Given the description of an element on the screen output the (x, y) to click on. 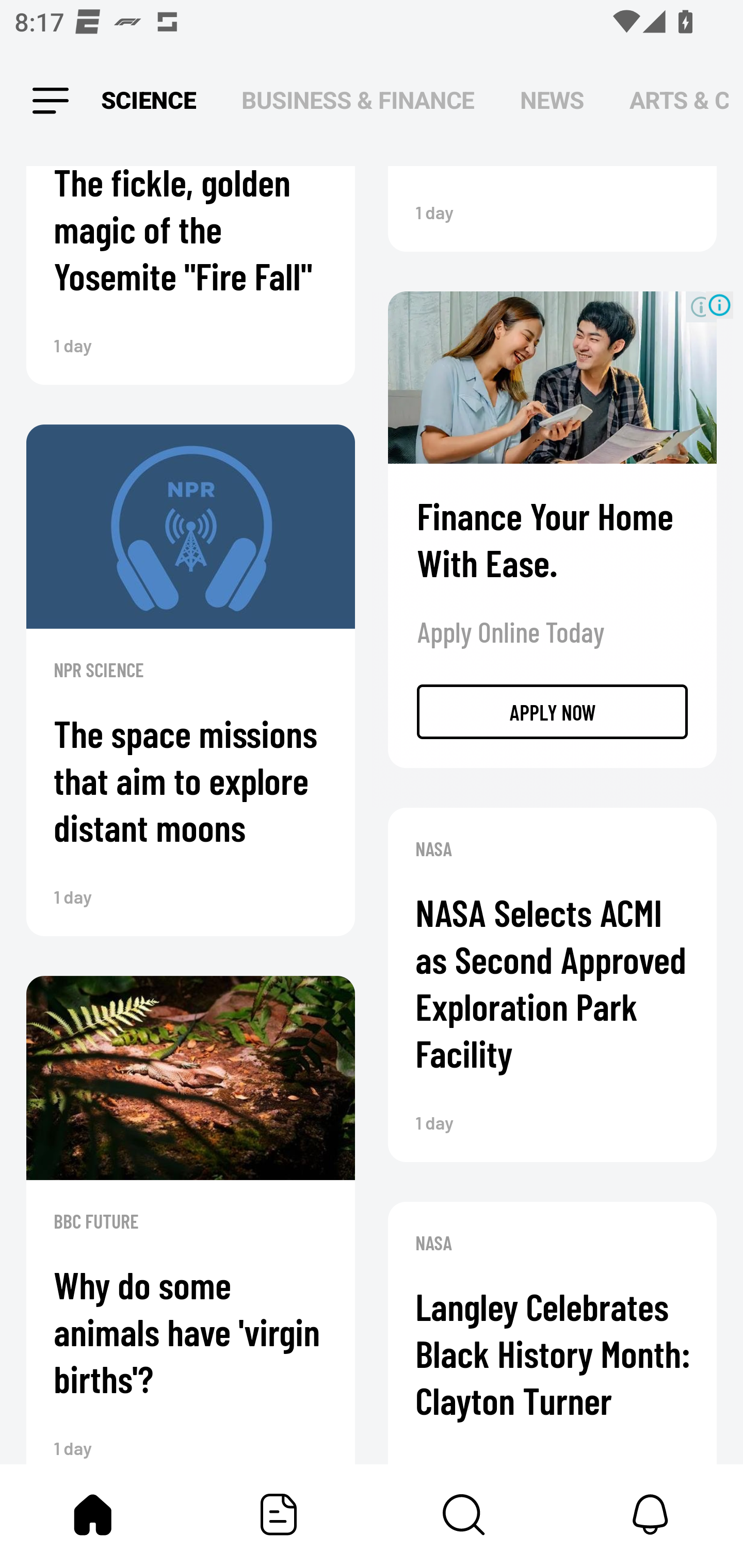
Leading Icon (50, 101)
BUSINESS & FINANCE (357, 100)
NEWS (551, 100)
ARTS & CULTURE (678, 100)
Ad Choices Icon (719, 304)
Featured (278, 1514)
Content Store (464, 1514)
Notifications (650, 1514)
